Given the description of an element on the screen output the (x, y) to click on. 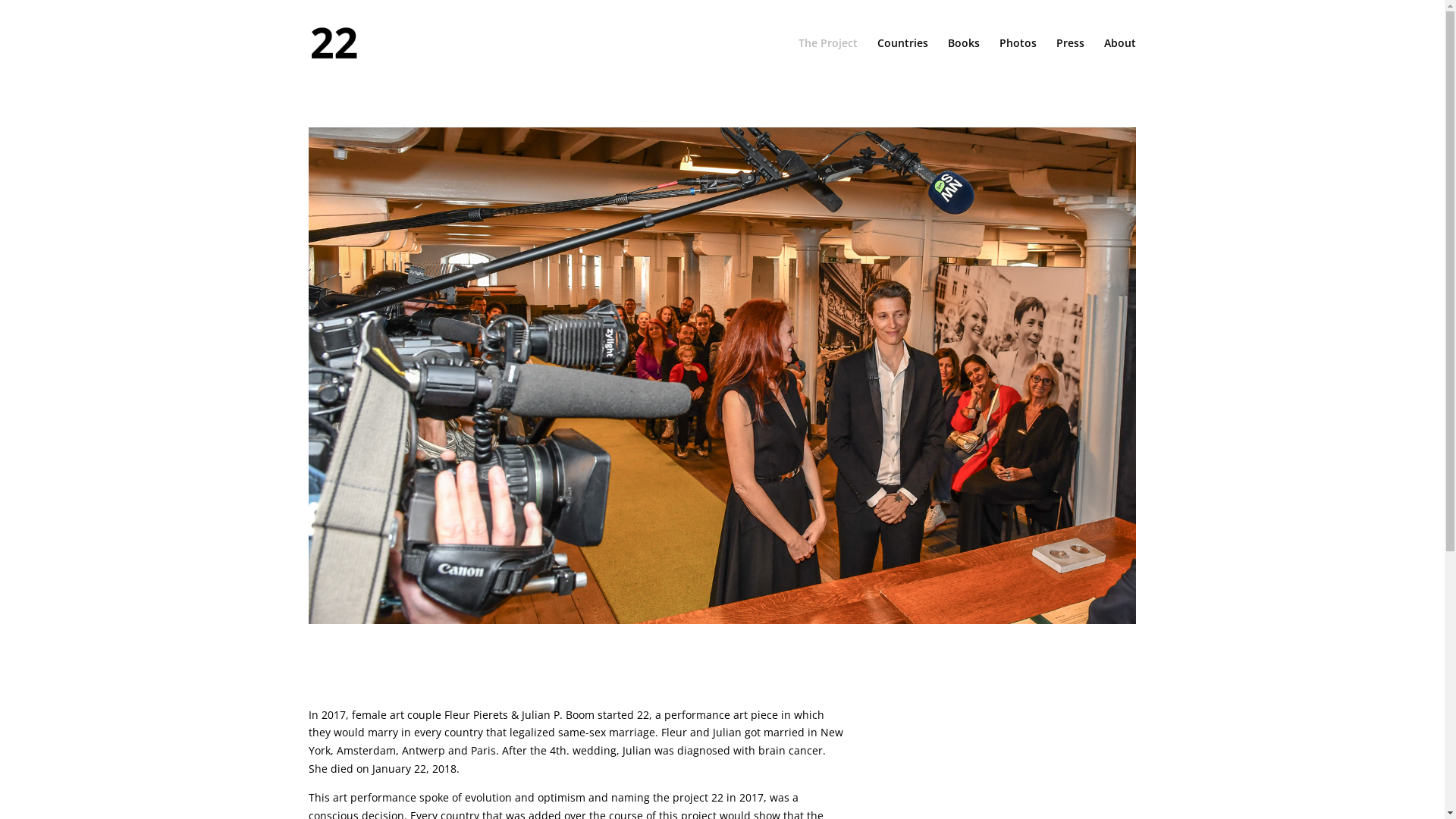
Books Element type: text (963, 61)
Photos Element type: text (1017, 61)
The Project Element type: text (827, 61)
Countries Element type: text (902, 61)
About Element type: text (1119, 61)
Press Element type: text (1070, 61)
